Given the description of an element on the screen output the (x, y) to click on. 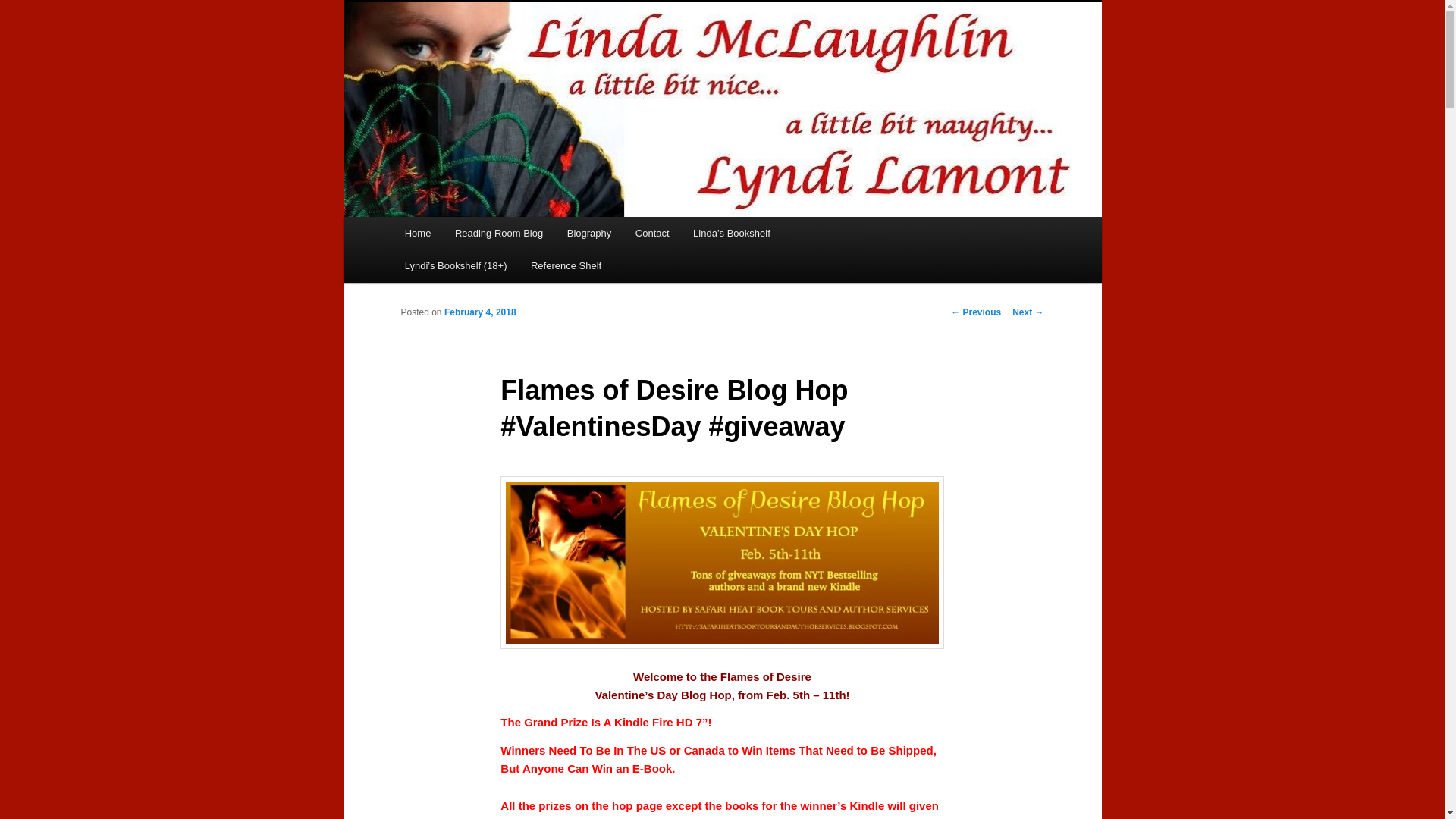
Biography (588, 233)
Contact (652, 233)
February 4, 2018 (480, 312)
Reference Shelf (565, 265)
Reading Room Blog (498, 233)
Home (417, 233)
11:59 PM (480, 312)
